Given the description of an element on the screen output the (x, y) to click on. 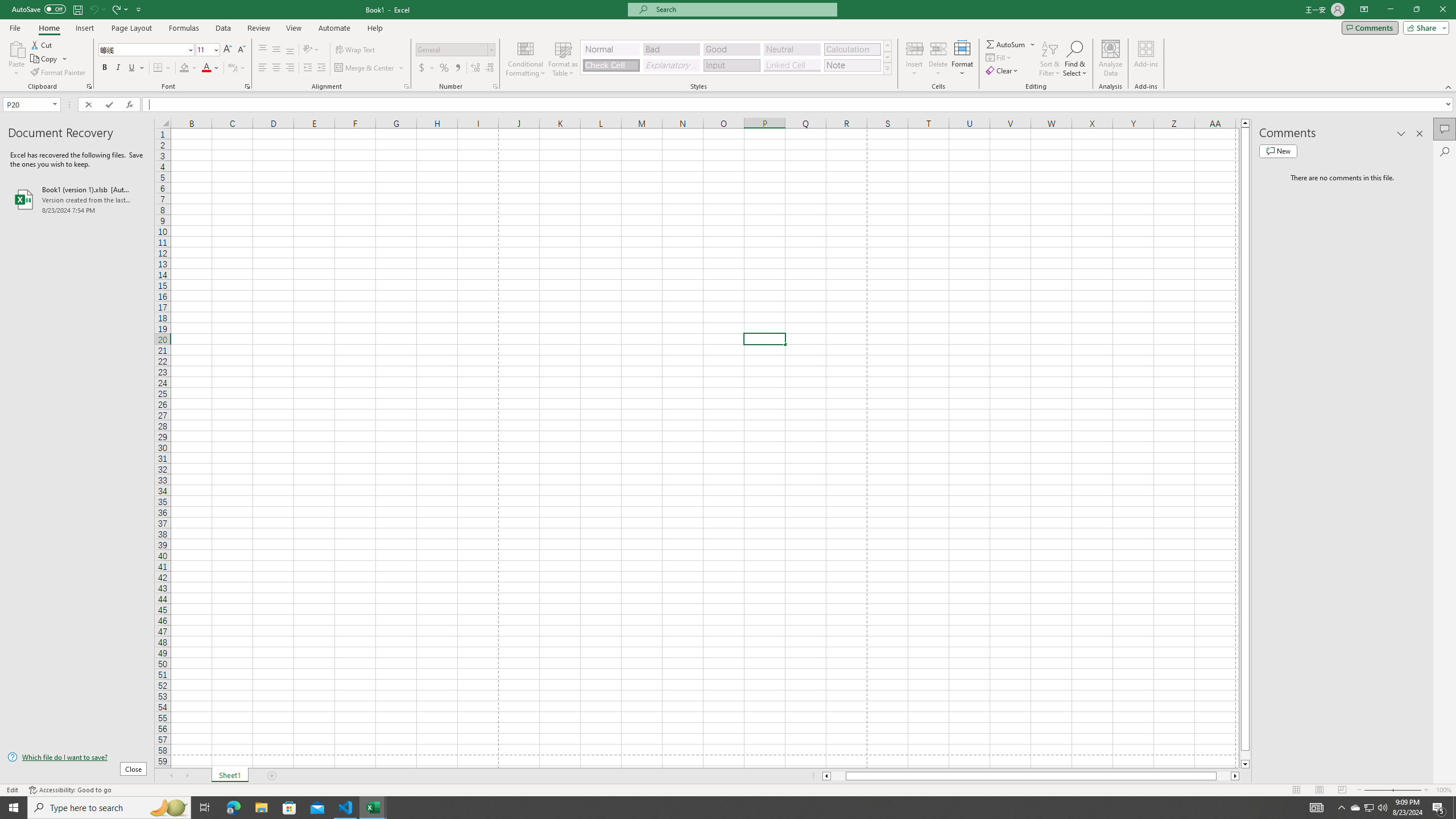
Show Phonetic Field (231, 67)
Comments (1369, 27)
Check Cell (611, 65)
Minimize (1390, 9)
Zoom Out (1377, 790)
Accessibility Checker Accessibility: Good to go (70, 790)
Font Color (210, 67)
Automate (334, 28)
Align Left (262, 67)
Bottom Align (290, 49)
Which file do I want to save? (77, 757)
Number Format (451, 49)
Page left (838, 775)
Format Cell Alignment (405, 85)
Microsoft search (742, 9)
